Given the description of an element on the screen output the (x, y) to click on. 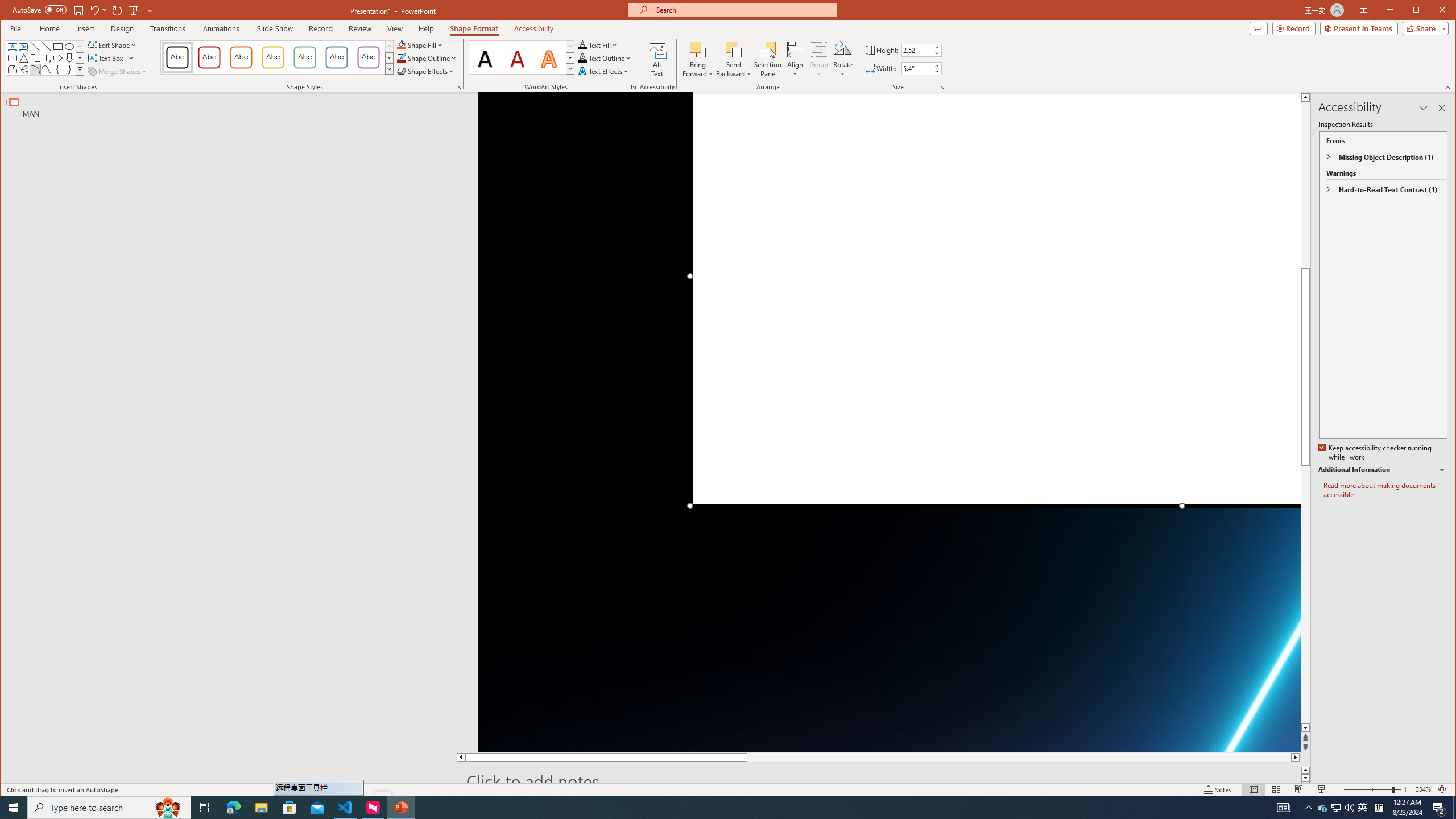
Outline (231, 104)
Line up (1322, 807)
Transitions (1305, 96)
Right Brace (167, 28)
Microsoft Store (69, 69)
Size and Position... (289, 807)
Alt Text (941, 86)
Bring Forward (657, 59)
Row up (697, 59)
Show desktop (570, 46)
Arc (1454, 807)
